Given the description of an element on the screen output the (x, y) to click on. 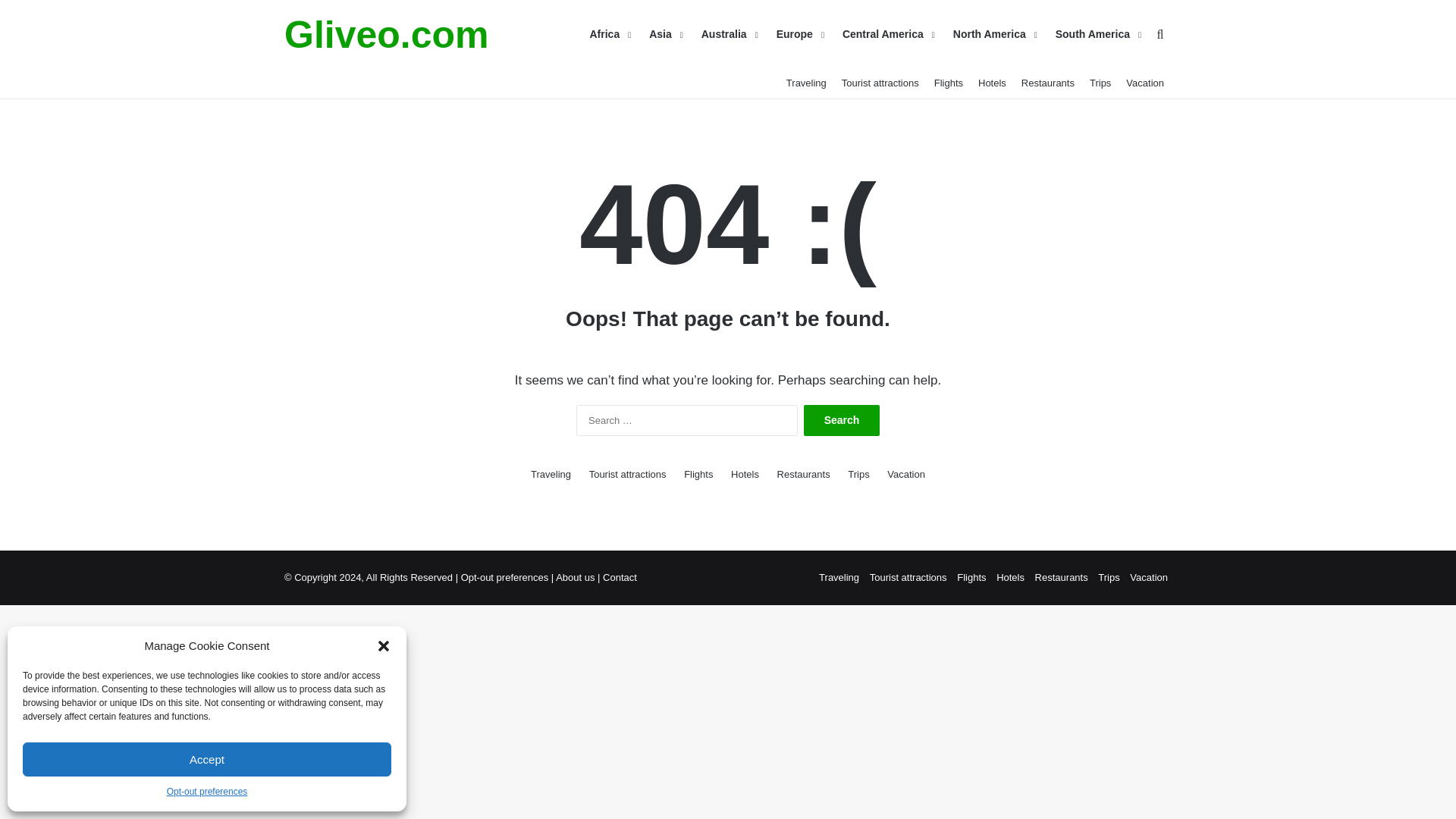
Gliveo.com (386, 34)
Europe (798, 33)
Australia (727, 33)
Search (841, 419)
Search (841, 419)
Gliveo.com (386, 34)
